Given the description of an element on the screen output the (x, y) to click on. 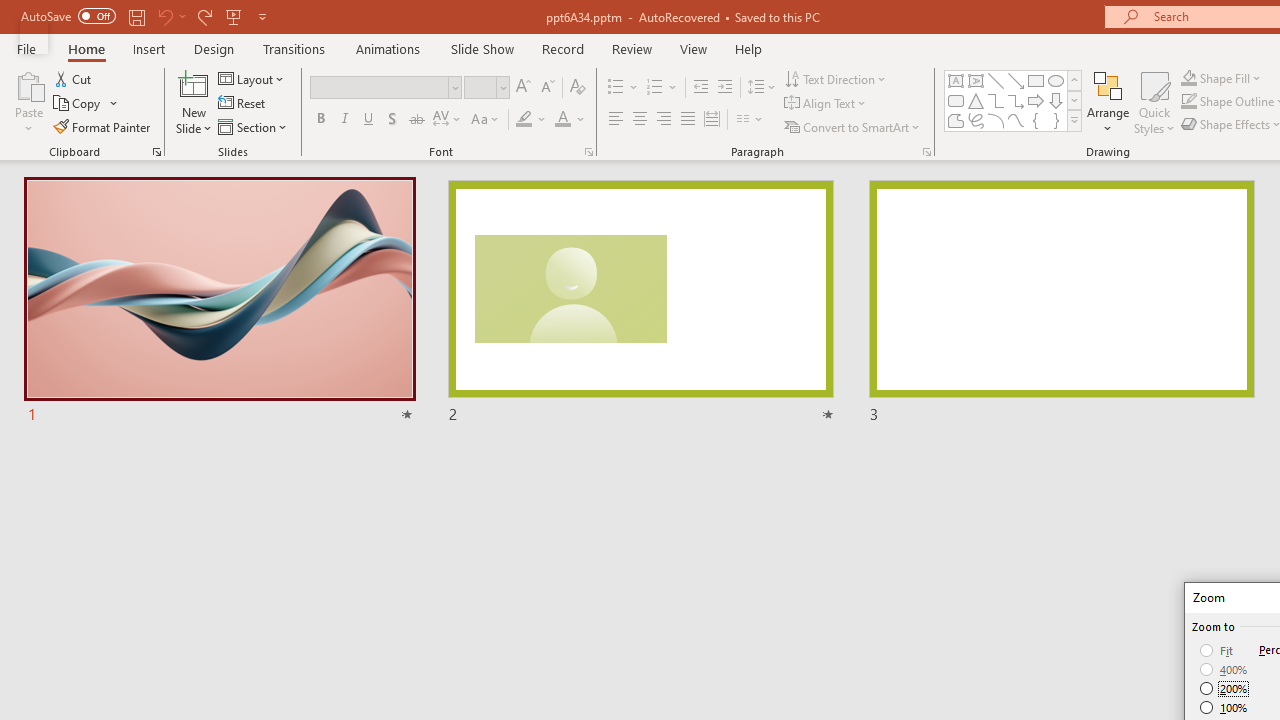
Quick Styles (1154, 102)
Layout (252, 78)
Increase Indent (725, 87)
Freeform: Shape (955, 120)
100% (1224, 707)
Text Highlight Color (531, 119)
Office Clipboard... (156, 151)
200% (1224, 688)
Text Direction (836, 78)
Text Highlight Color (524, 119)
Font Color (562, 119)
